Given the description of an element on the screen output the (x, y) to click on. 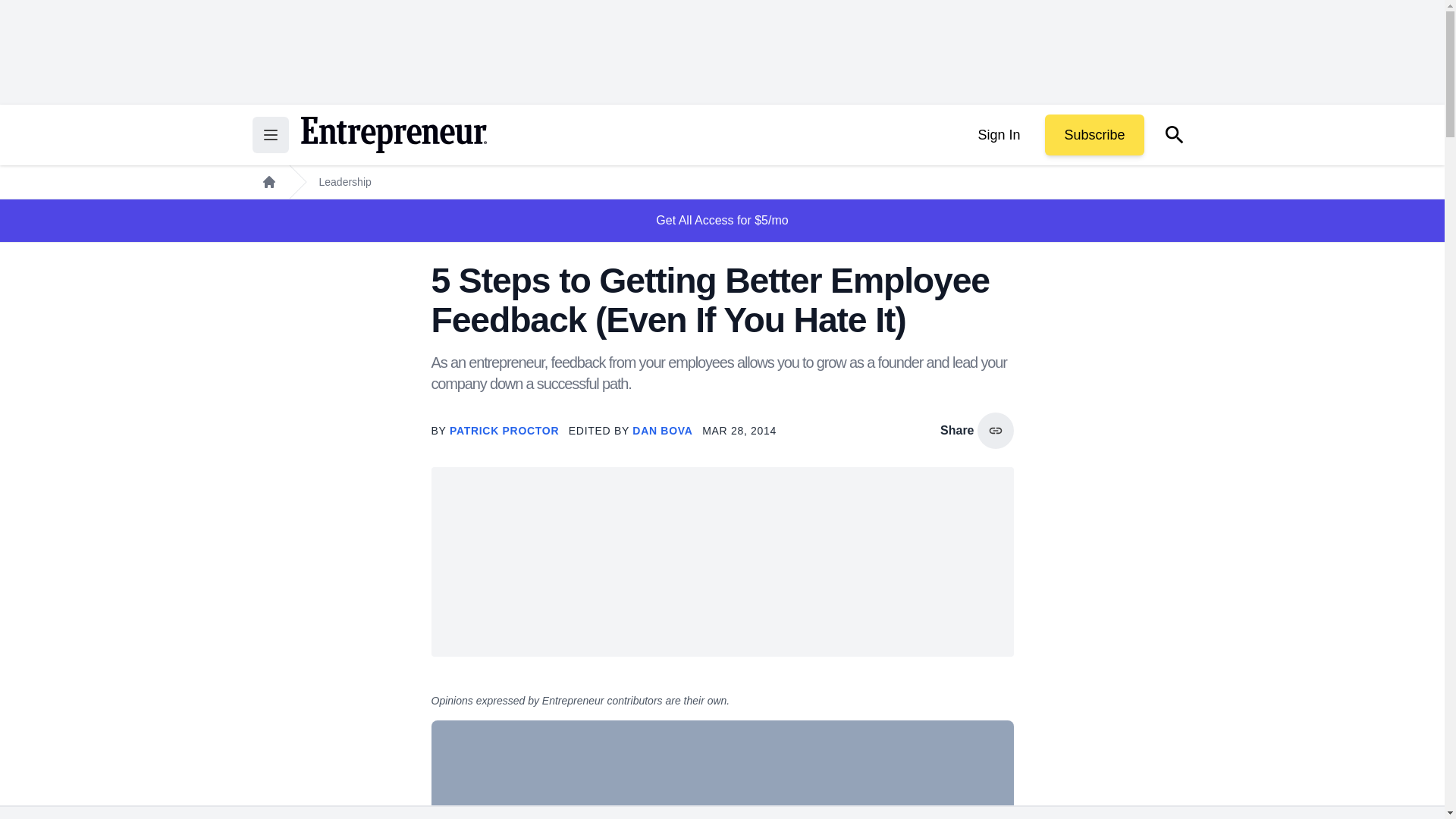
copy (994, 430)
Subscribe (1093, 134)
Sign In (998, 134)
Return to the home page (392, 135)
